Given the description of an element on the screen output the (x, y) to click on. 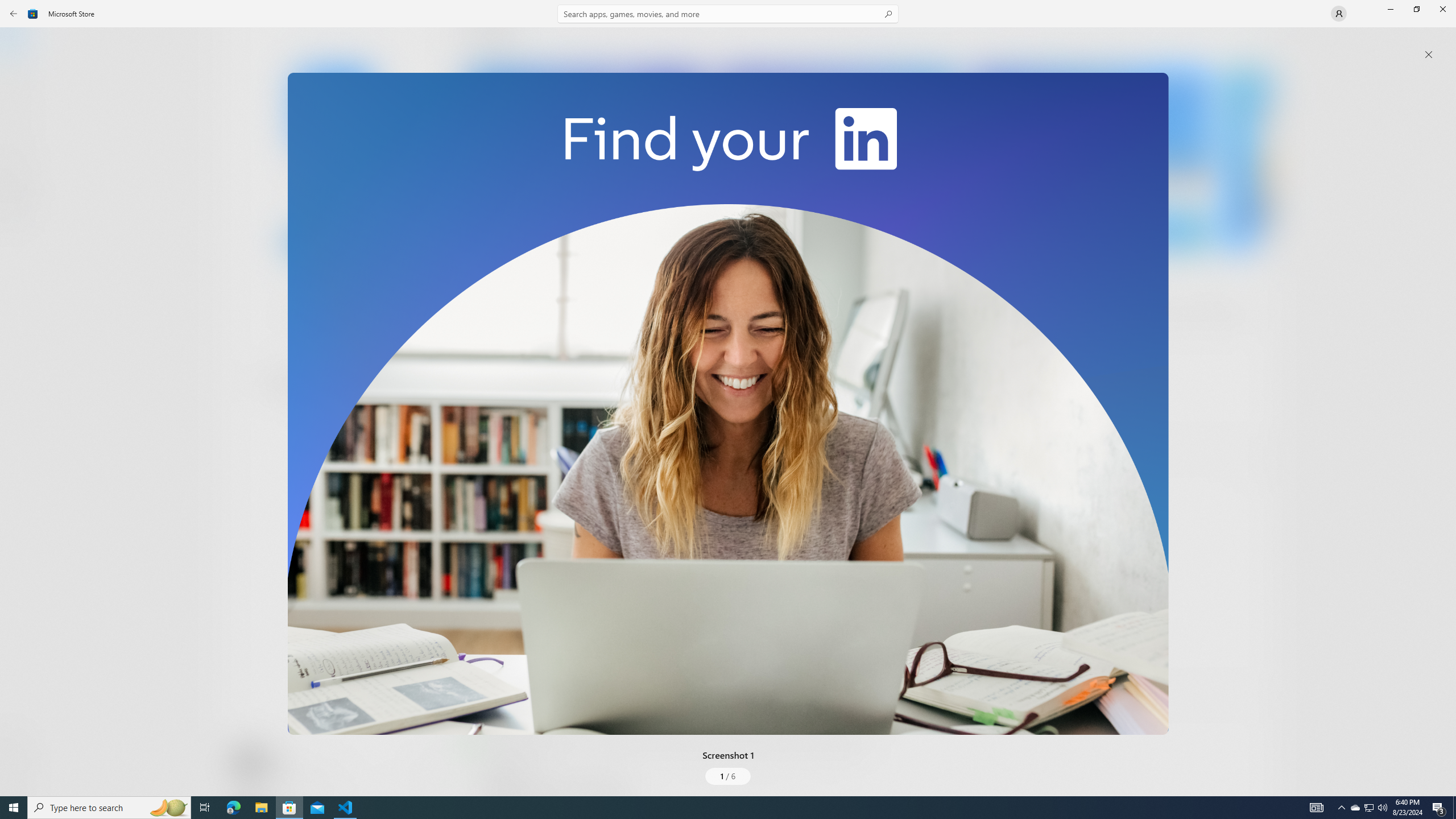
Share (424, 769)
Entertainment (20, 185)
Gaming (20, 115)
What's New (20, 738)
AutomationID: NavigationControl (728, 398)
Show all ratings and reviews (477, 667)
Search (727, 13)
Age rating: TEEN. Click for more information. (276, 762)
Restore Microsoft Store (1416, 9)
Home (20, 45)
Screenshot 1 (727, 403)
Arcade (20, 150)
close popup window (1428, 54)
User profile (1338, 13)
LinkedIn (332, 189)
